Given the description of an element on the screen output the (x, y) to click on. 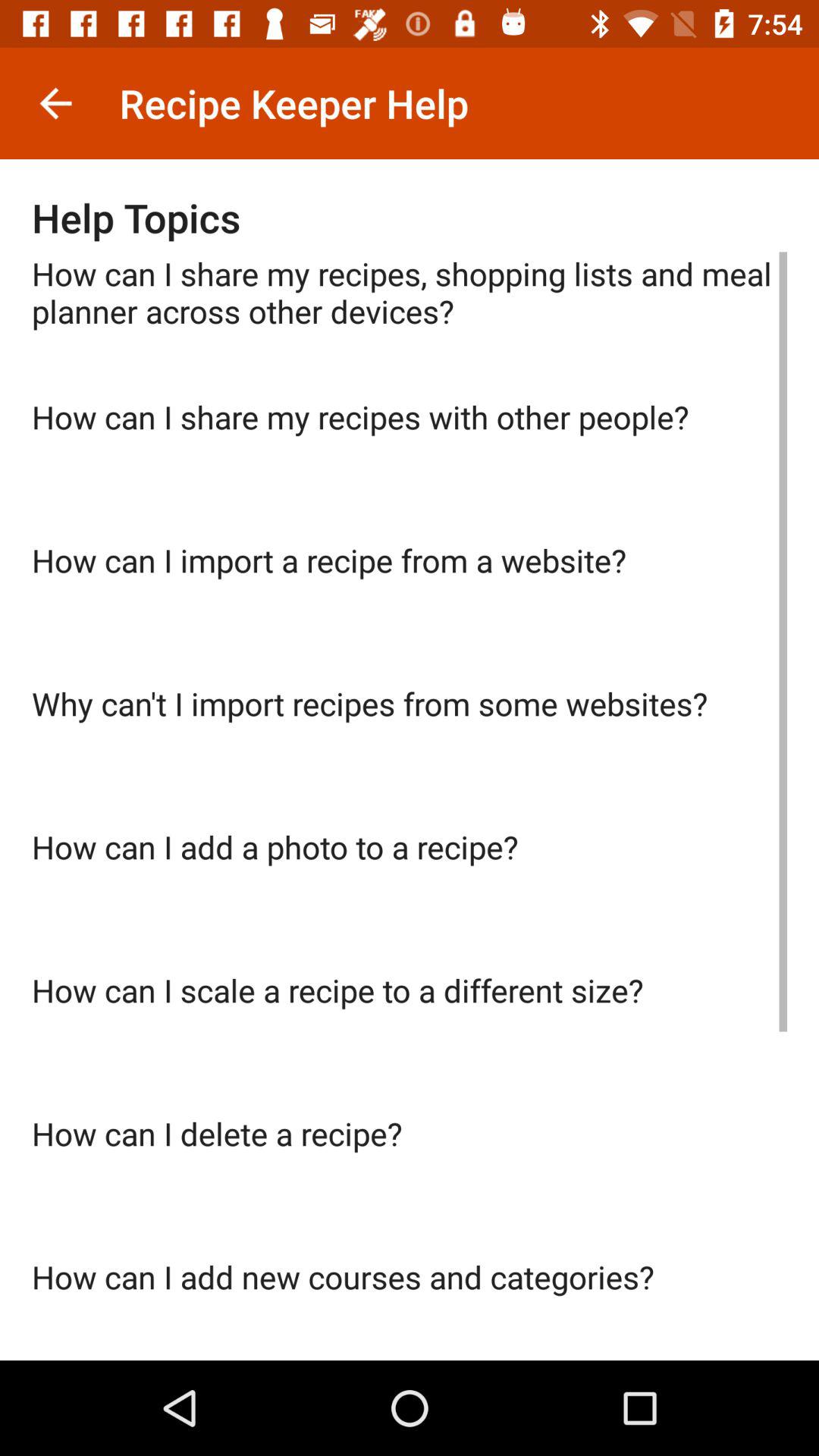
swipe until the why can t (409, 753)
